Given the description of an element on the screen output the (x, y) to click on. 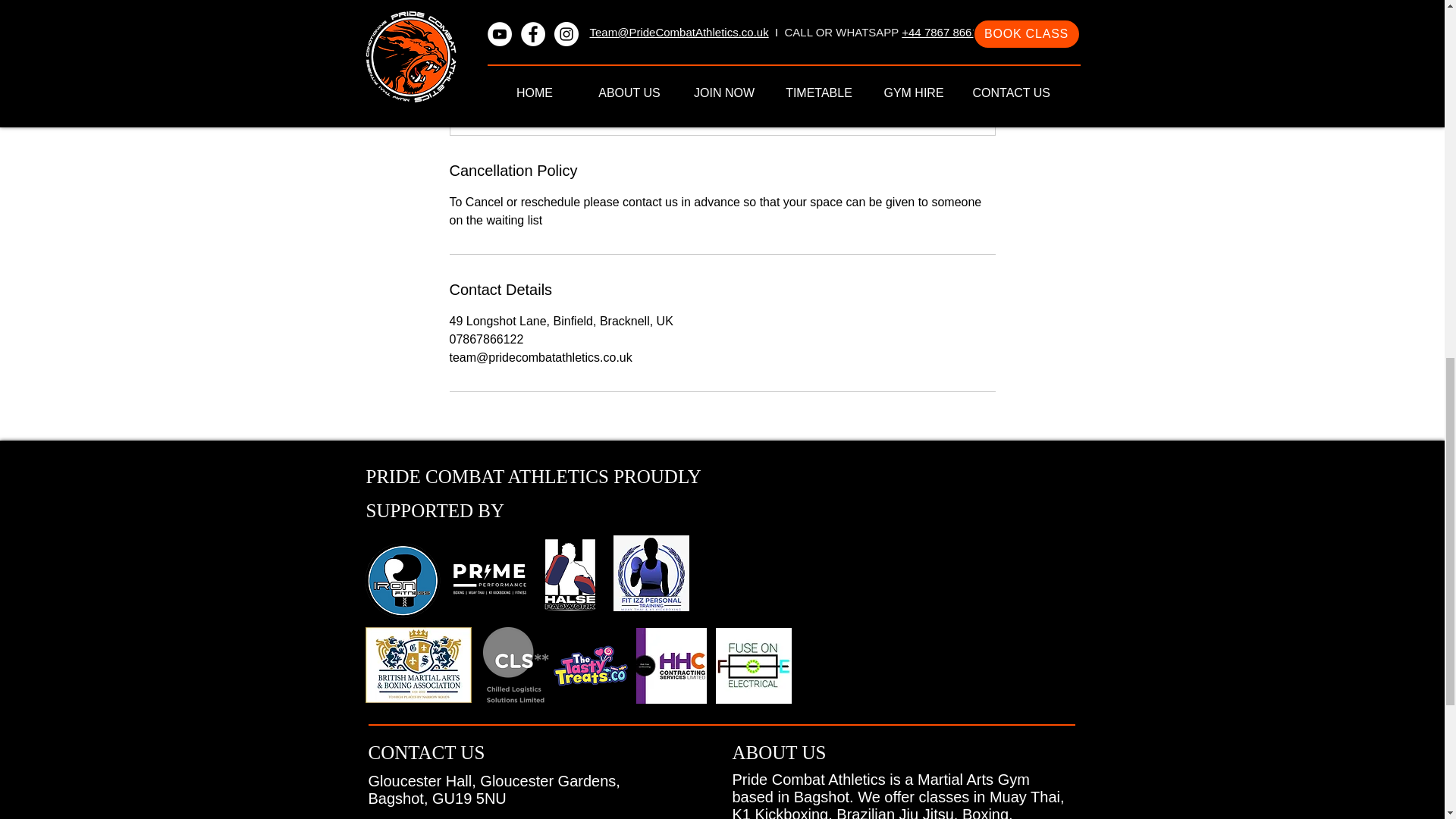
Priday Performance Training (570, 572)
FusOn Electrical Ltd (754, 665)
HCC Contracting (670, 665)
Prime Performance - Sam Logo.png (489, 577)
